Given the description of an element on the screen output the (x, y) to click on. 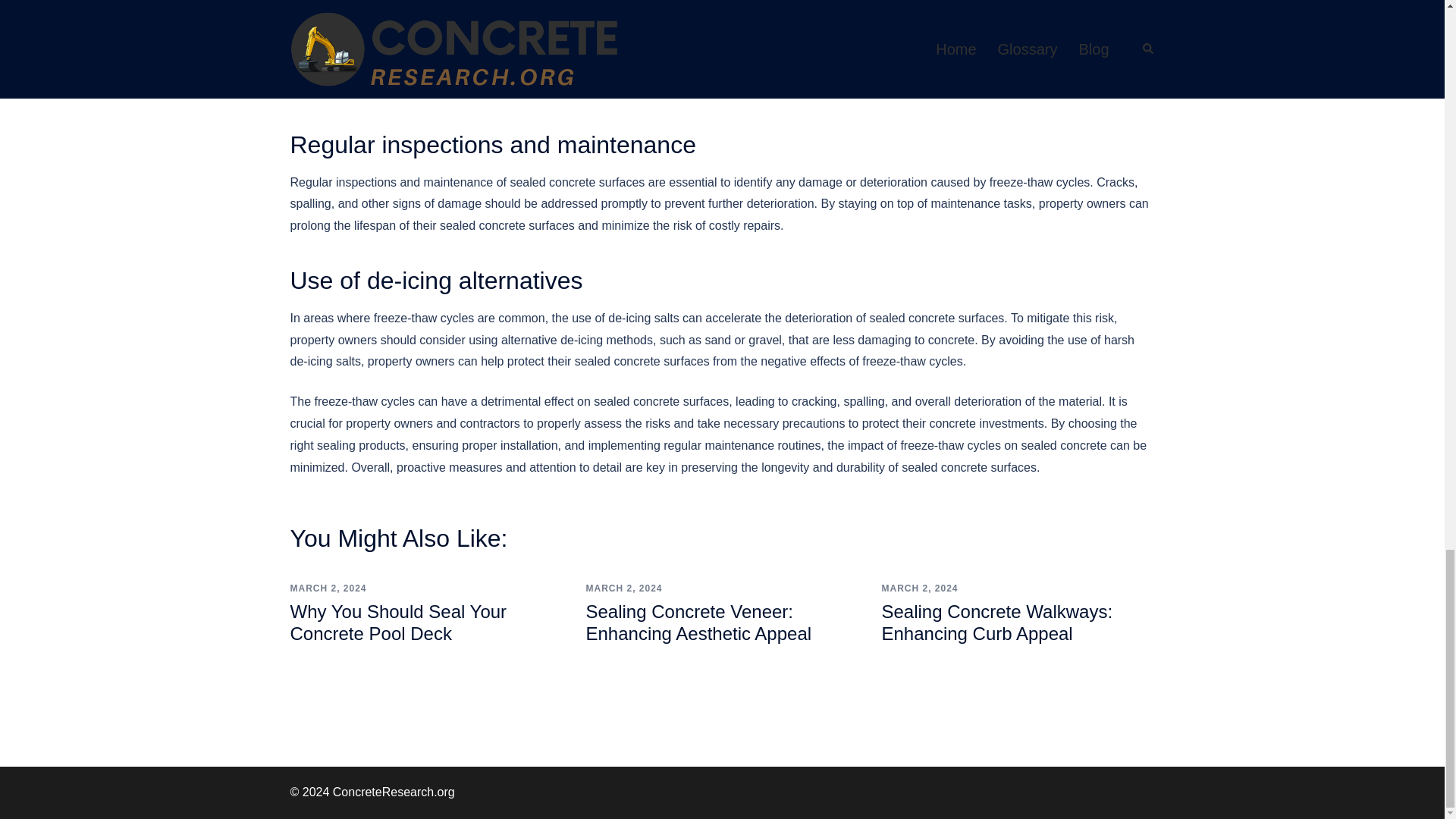
MARCH 2, 2024 (919, 588)
MARCH 2, 2024 (623, 588)
Sealing Concrete Veneer: Enhancing Aesthetic Appeal (697, 622)
Sealing Concrete Walkways: Enhancing Curb Appeal (996, 622)
MARCH 2, 2024 (327, 588)
Why You Should Seal Your Concrete Pool Deck (397, 622)
